Given the description of an element on the screen output the (x, y) to click on. 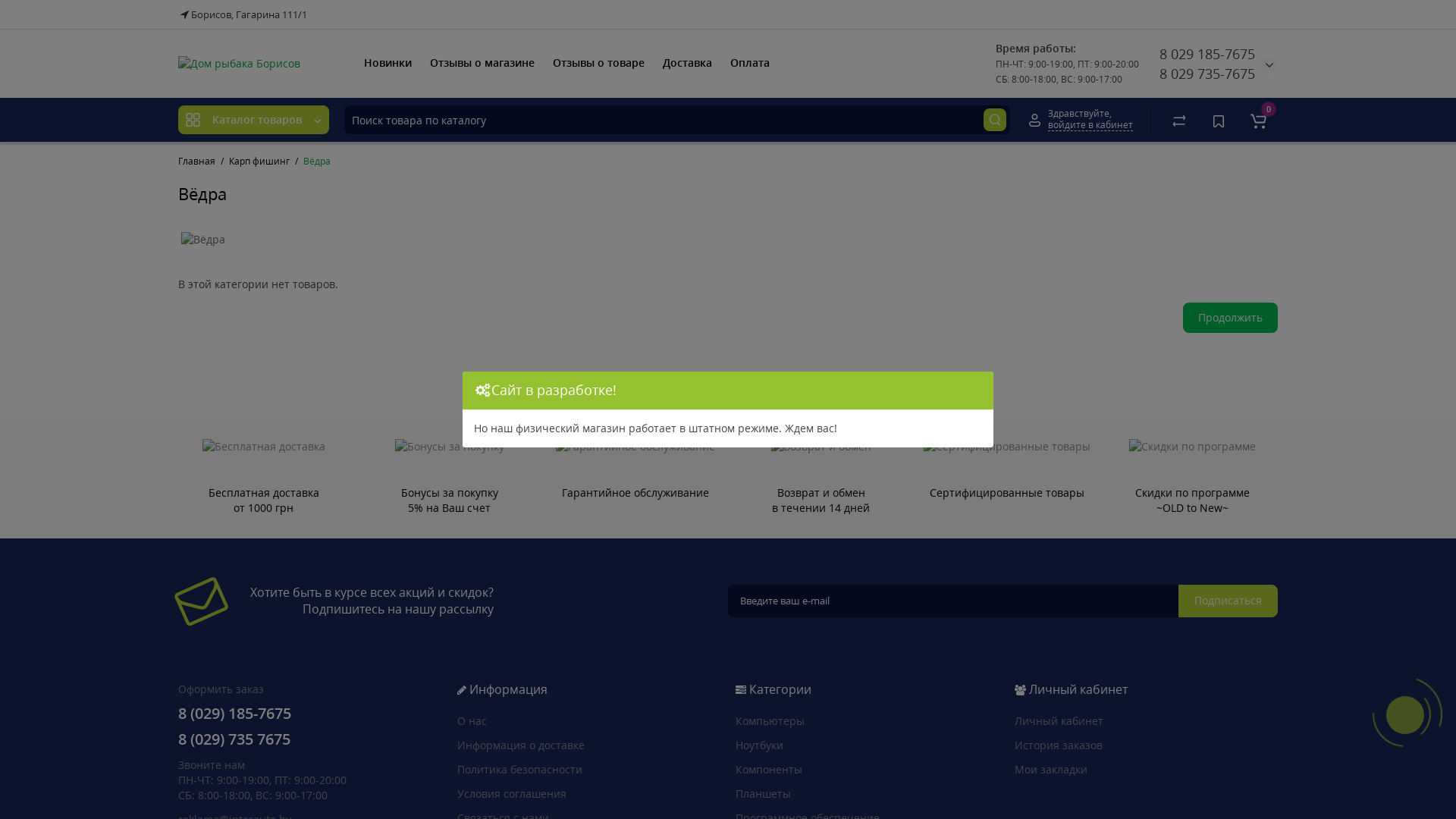
8 (029) 735 7675 Element type: text (234, 740)
8 (029) 185-7675 Element type: text (234, 714)
8 029 735-7675 Element type: text (1207, 73)
0 Element type: text (1257, 119)
8 029 185-7675 Element type: text (1207, 53)
